Given the description of an element on the screen output the (x, y) to click on. 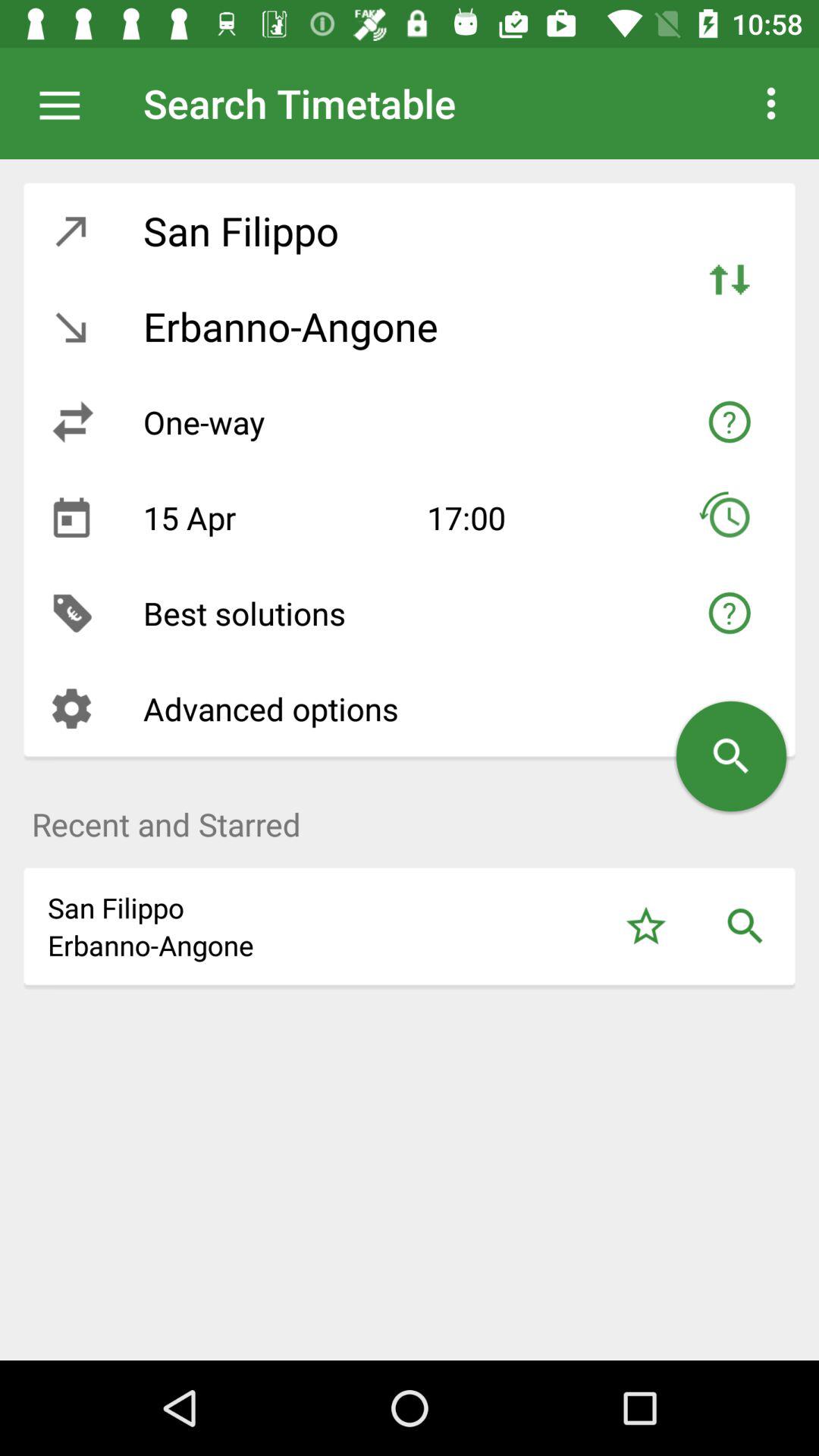
tap the icon to the left of san filippo icon (71, 230)
